Given the description of an element on the screen output the (x, y) to click on. 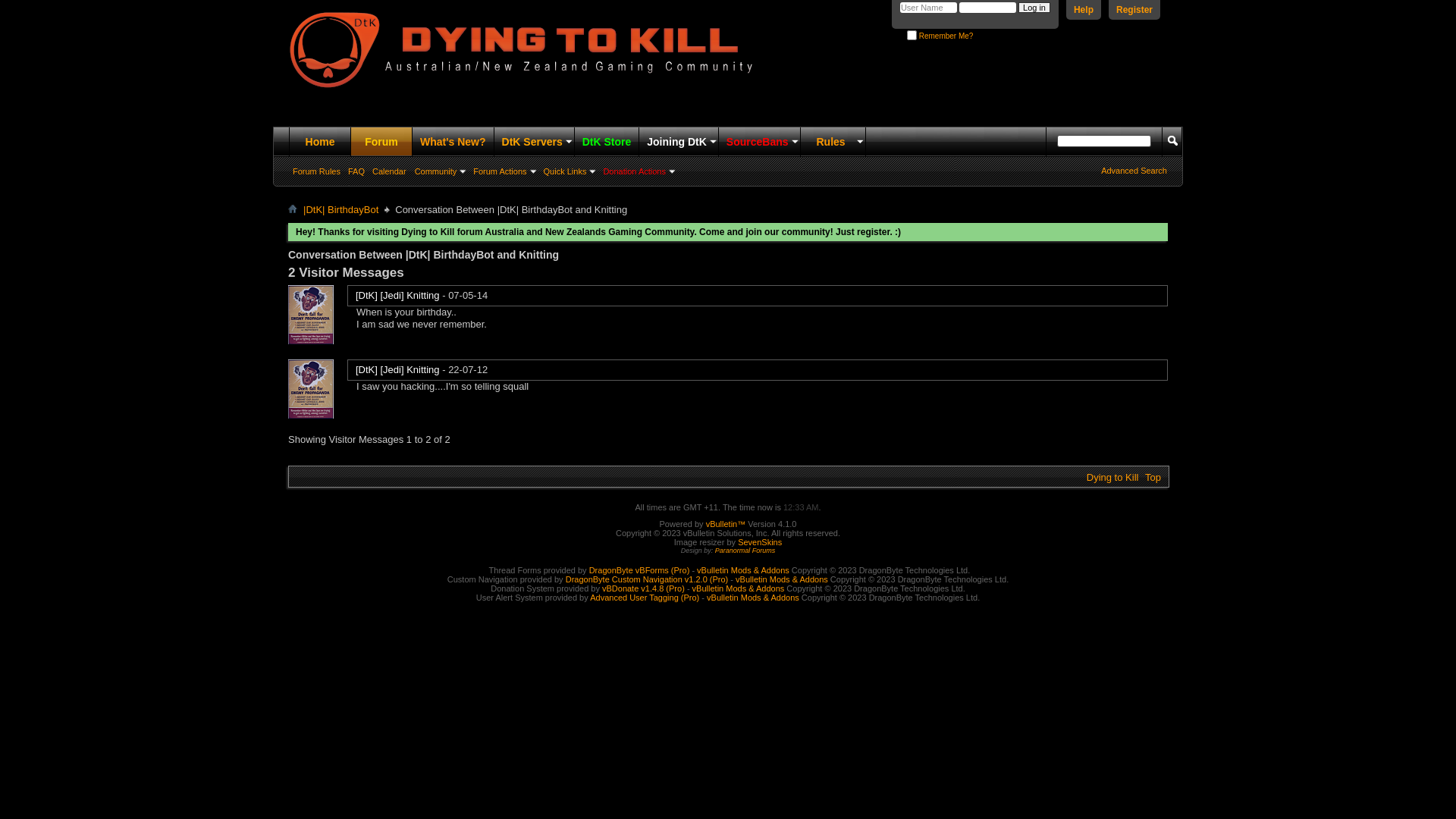
Forum Element type: text (381, 141)
Forum Rules Element type: text (316, 171)
Donation Actions Element type: text (637, 171)
|DtK| BirthdayBot Element type: text (340, 209)
Dying to Kill Element type: text (1112, 477)
Forum Actions Element type: text (503, 171)
SevenSkins Element type: text (759, 541)
DragonByte vBForms (Pro) Element type: text (639, 569)
DragonByte Custom Navigation v1.2.0 (Pro) Element type: text (646, 578)
SourceBans Element type: text (759, 141)
vBulletin Mods & Addons Element type: text (738, 588)
vBulletin Mods & Addons Element type: text (781, 578)
Home Element type: hover (292, 208)
Register Element type: text (1134, 9)
Advanced User Tagging (Pro) Element type: text (644, 597)
Help Element type: text (1083, 9)
Home Element type: text (319, 141)
Knitting Element type: hover (310, 388)
[DtK] [Jedi] Knitting Element type: text (397, 369)
Knitting Element type: hover (310, 314)
[DtK] [Jedi] Knitting Element type: text (397, 295)
Community Element type: text (439, 171)
vBDonate v1.4.8 (Pro) Element type: text (643, 588)
Calendar Element type: text (389, 171)
What's New? Element type: text (452, 141)
Top Element type: text (1153, 477)
Log in Element type: text (1034, 7)
vBulletin Mods & Addons Element type: text (742, 569)
Paranormal Forums Element type: text (745, 550)
Joining DtK Element type: text (678, 141)
vBulletin Mods & Addons Element type: text (752, 597)
FAQ Element type: text (356, 171)
DtK Servers Element type: text (534, 141)
Quick Links Element type: text (569, 171)
Rules Element type: text (832, 141)
Advanced Search Element type: text (1134, 170)
DtK Store Element type: text (606, 141)
